Given the description of an element on the screen output the (x, y) to click on. 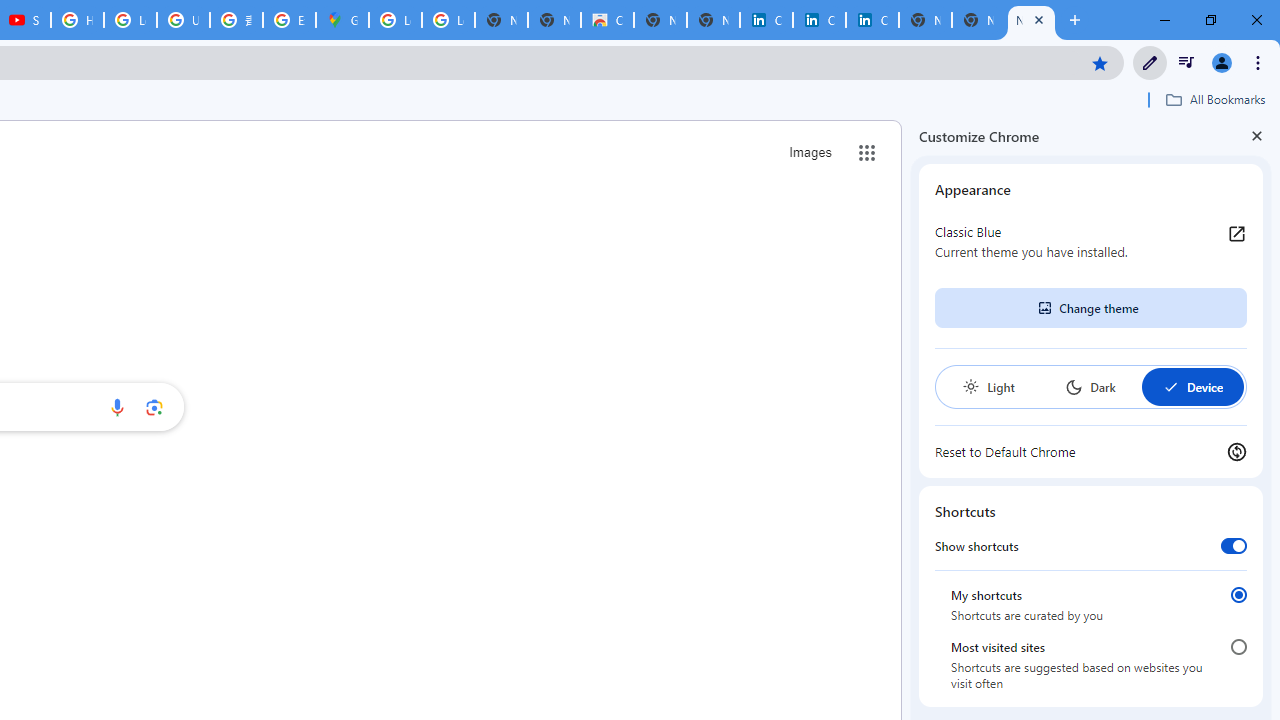
All Bookmarks (1215, 99)
Copyright Policy (872, 20)
Classic Blue Current theme you have installed. (1091, 241)
Show shortcuts (1233, 545)
My shortcuts (1238, 594)
Search by voice (116, 407)
Chrome Web Store (607, 20)
